Given the description of an element on the screen output the (x, y) to click on. 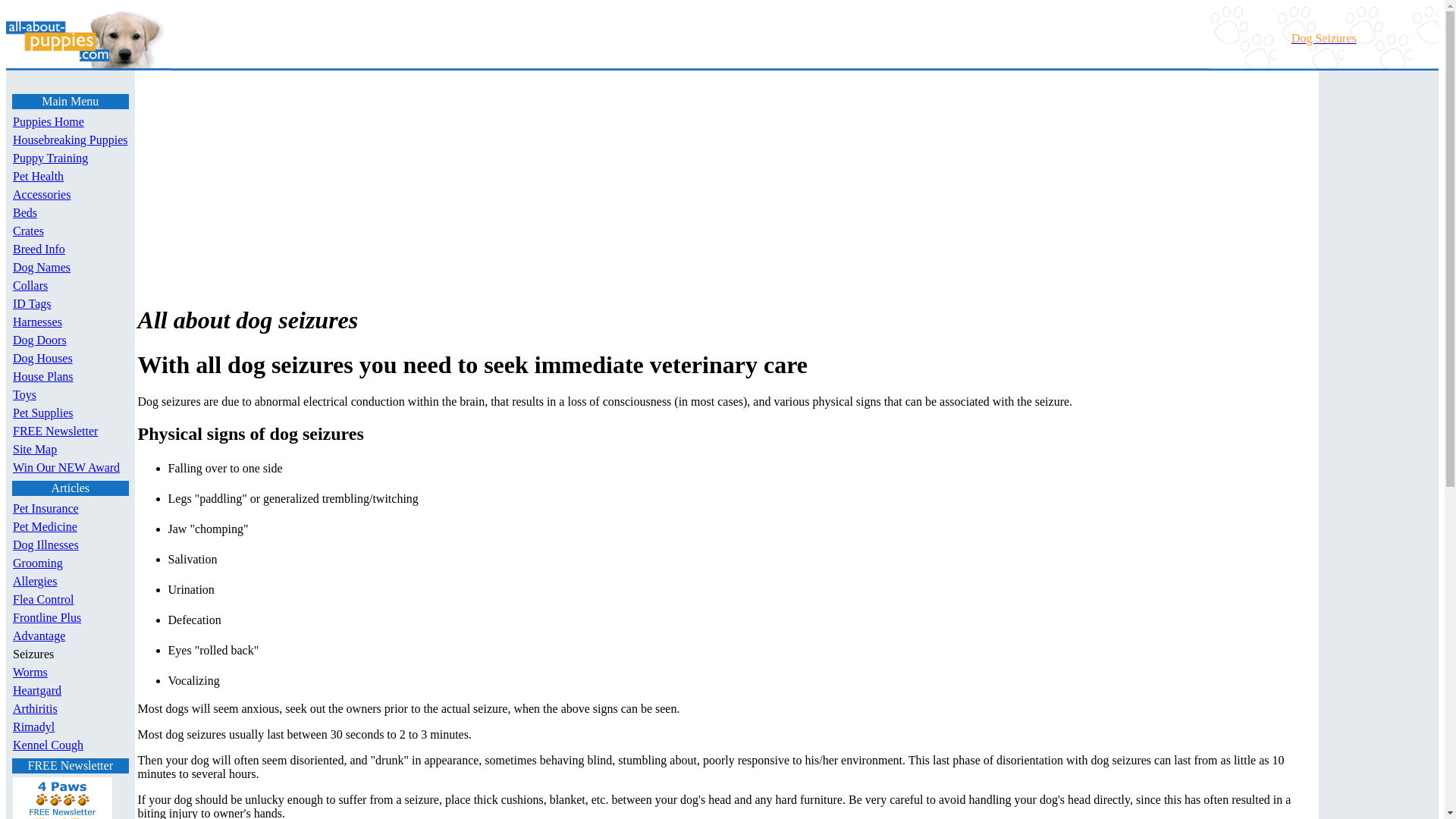
Advertisement (1369, 689)
ID Tags (31, 303)
Advertisement (266, 182)
Collars (30, 285)
Site Map (34, 449)
Flea Control (43, 599)
Rimadyl (34, 726)
Frontline Plus (47, 617)
Dog Doors (39, 339)
Dog Names (41, 267)
Arthiritis (35, 707)
Crates (28, 230)
Pet Insurance (45, 508)
Dog Seizures (1323, 38)
Kennel Cough (47, 744)
